Given the description of an element on the screen output the (x, y) to click on. 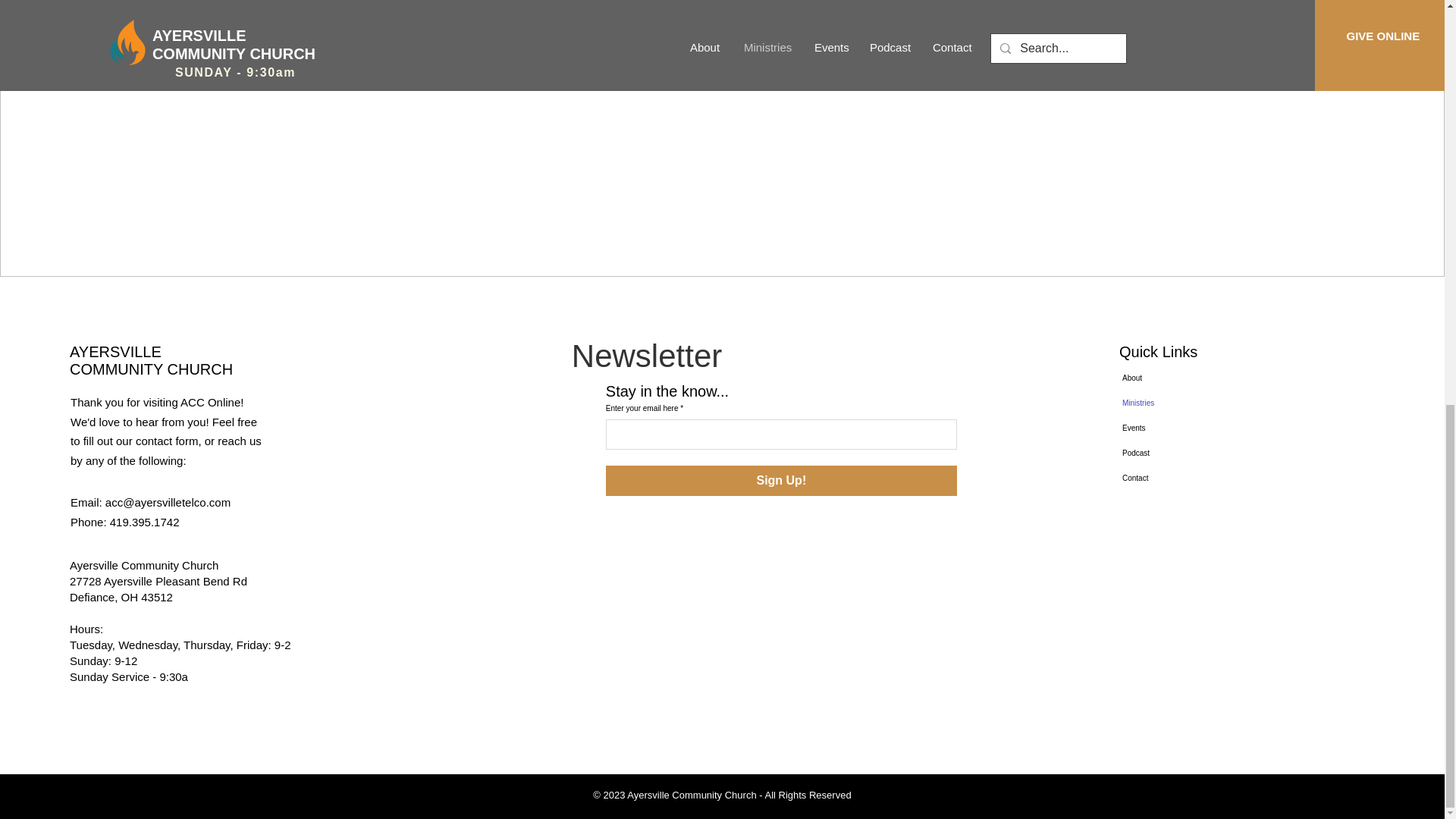
Events (1172, 427)
Ministries (1172, 402)
About (1172, 377)
Contact (1172, 478)
Podcast (1172, 453)
Sign Up! (780, 481)
